Given the description of an element on the screen output the (x, y) to click on. 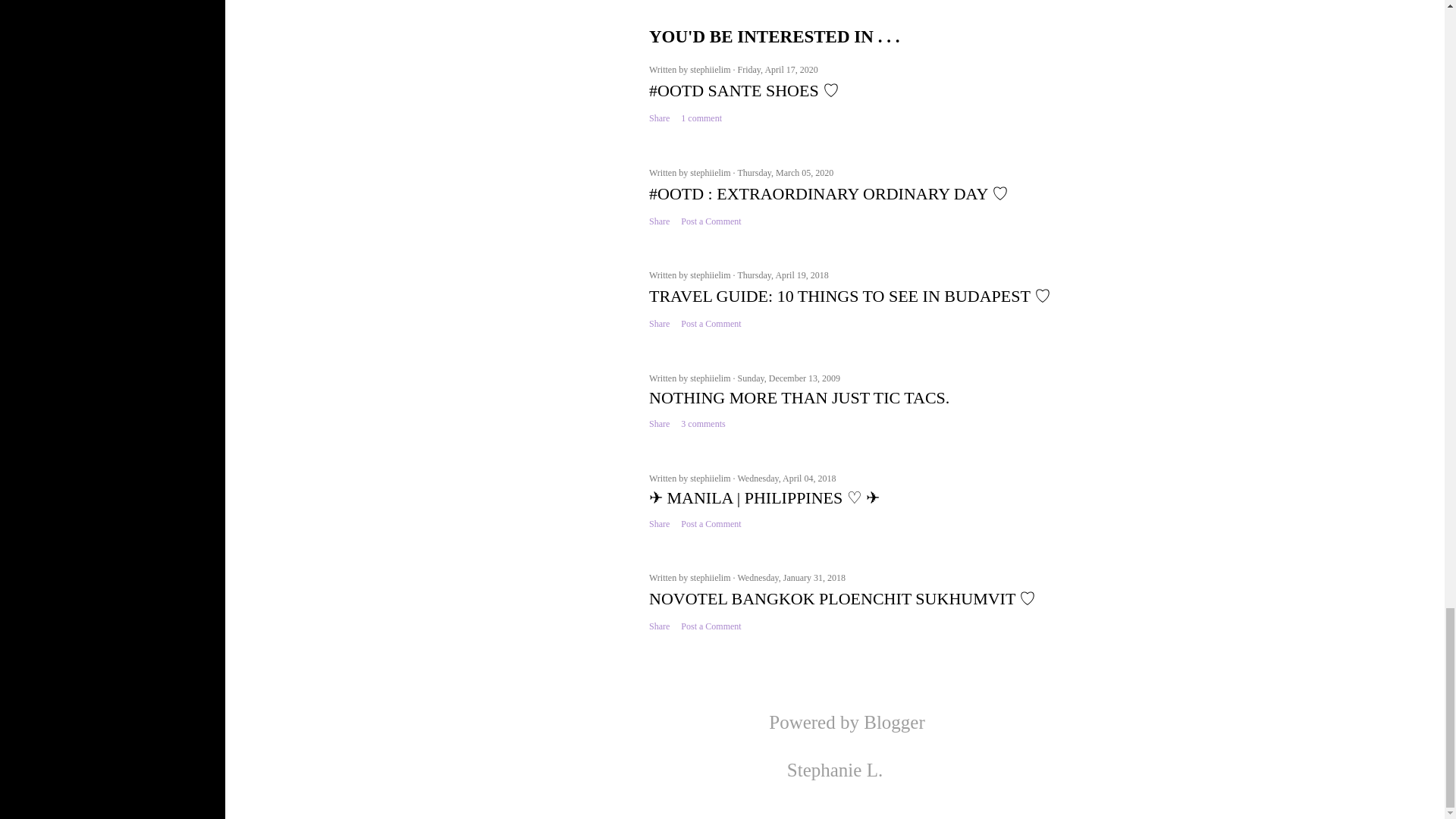
Thursday, March 05, 2020 (784, 172)
stephiielim (711, 172)
Friday, April 17, 2020 (776, 69)
Share (659, 118)
stephiielim (711, 69)
1 comment (701, 118)
